Given the description of an element on the screen output the (x, y) to click on. 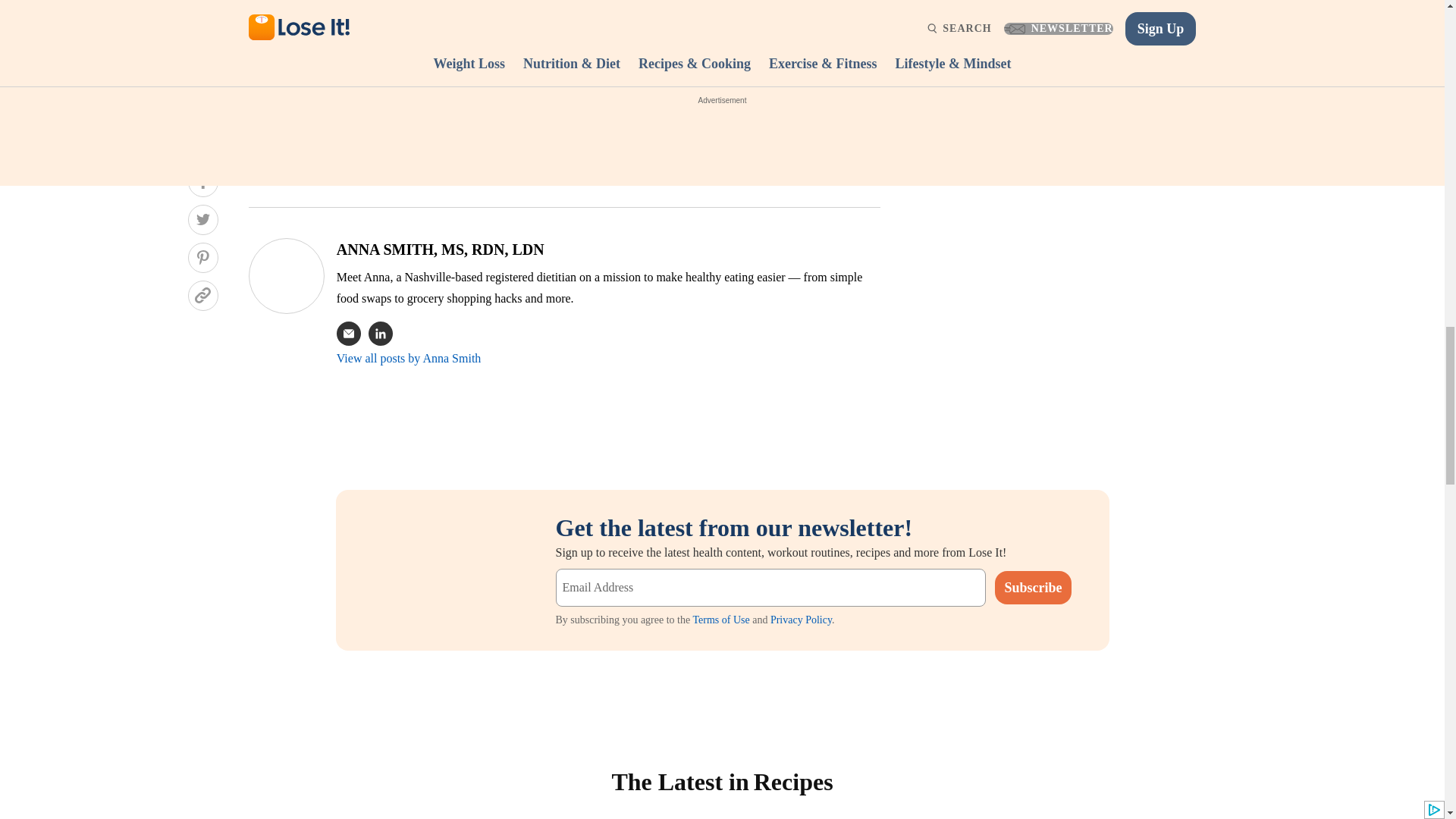
Subscribe (1032, 587)
Recipes (790, 781)
View all posts by Anna Smith (408, 358)
Privacy Policy (800, 619)
Terms of Use (721, 619)
